Given the description of an element on the screen output the (x, y) to click on. 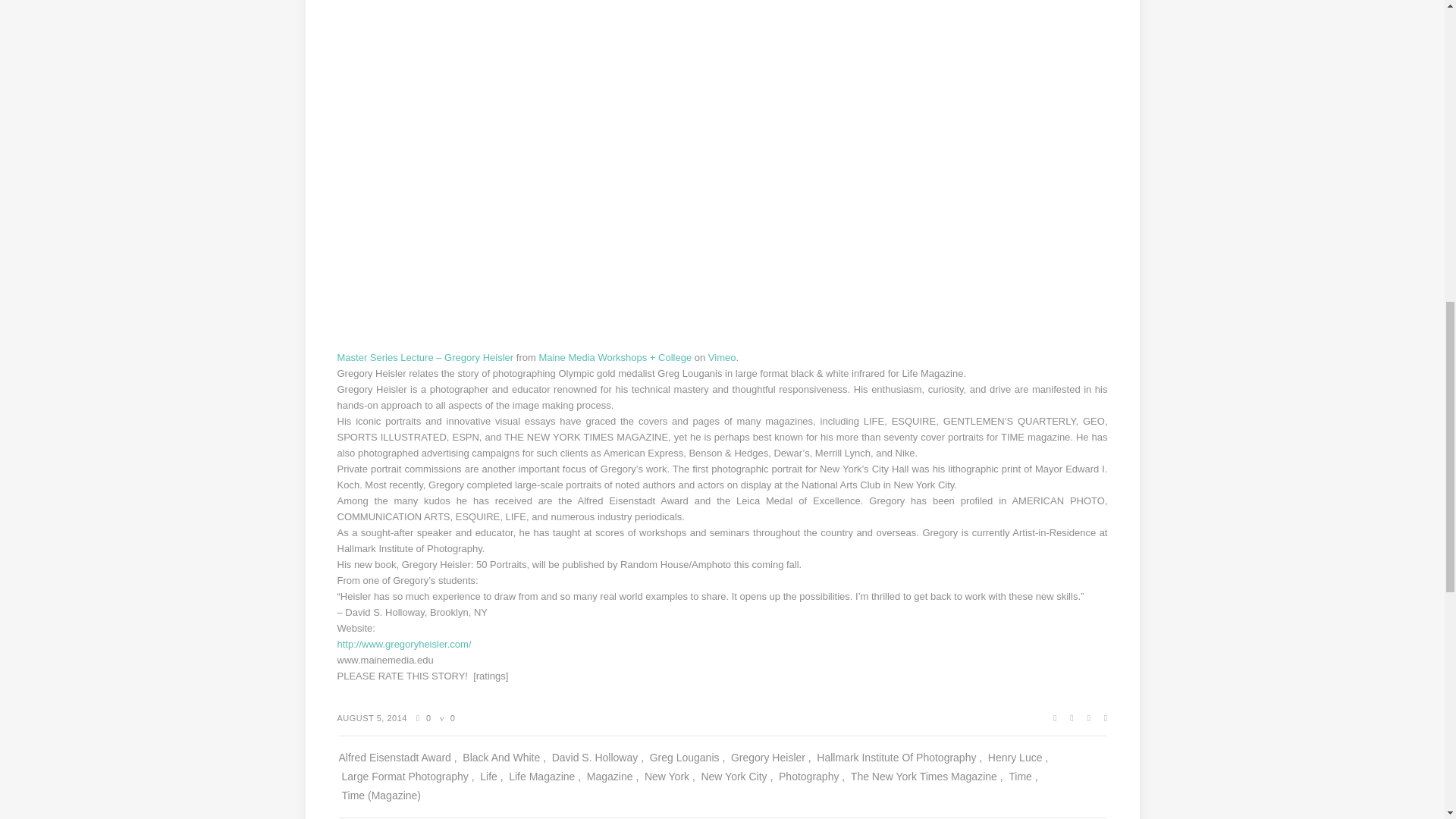
Life Magazine (544, 776)
Large Format Photography (407, 776)
David S. Holloway (597, 757)
New York (670, 776)
Black And White (504, 757)
0 (446, 717)
Alfred Eisenstadt Award (397, 757)
0 (423, 717)
Gregory Heisler (770, 757)
Henry Luce (1018, 757)
Vimeo (721, 357)
Hallmark Institute Of Photography (898, 757)
Greg Louganis (687, 757)
Magazine (612, 776)
Life (491, 776)
